Given the description of an element on the screen output the (x, y) to click on. 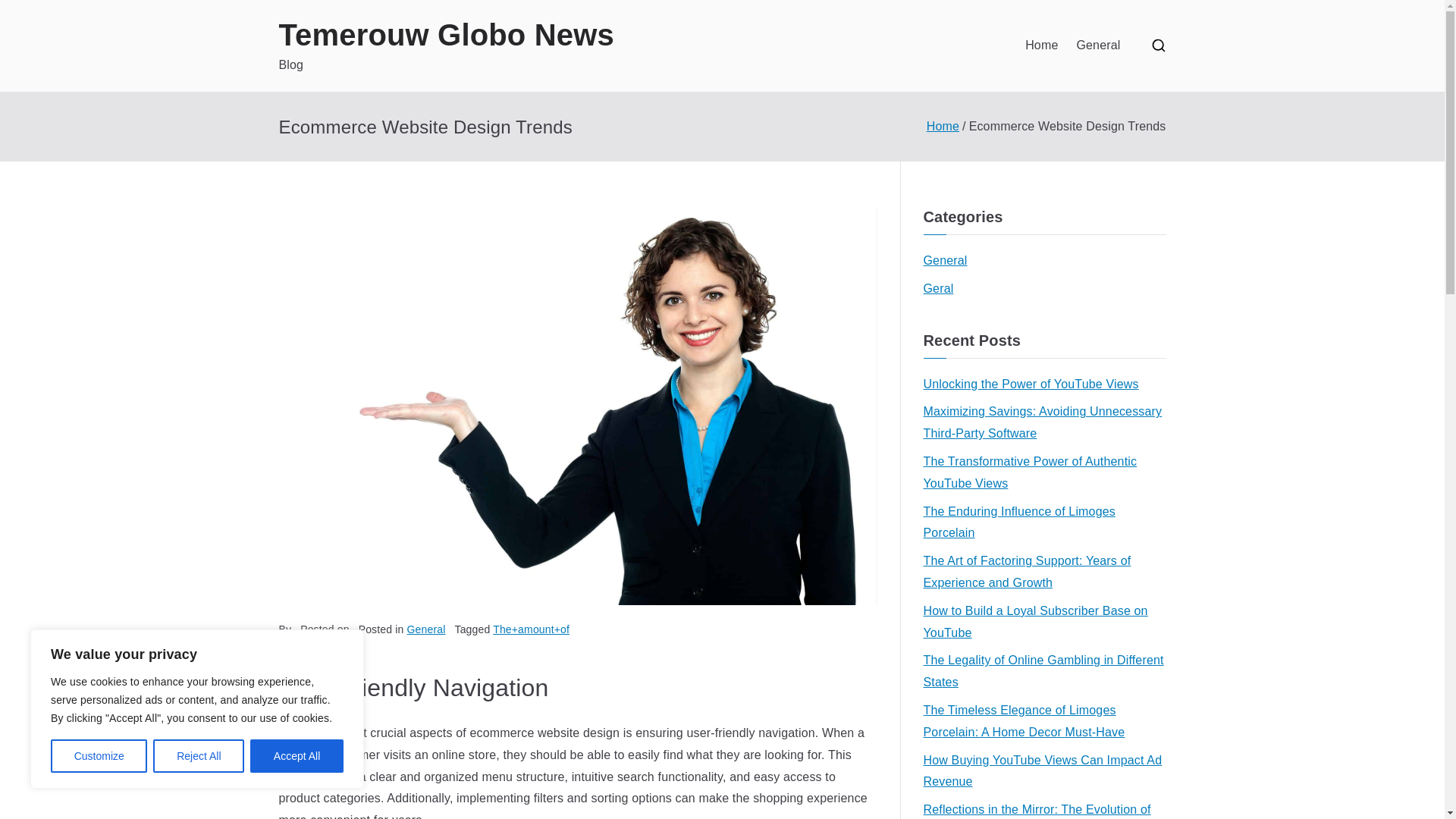
Home (942, 125)
Home (1041, 45)
General (1097, 45)
General (945, 260)
Temerouw Globo News (446, 34)
Unlocking the Power of YouTube Views (1030, 384)
Geral (938, 289)
Reject All (198, 756)
Accept All (296, 756)
Customize (98, 756)
General (426, 629)
